Given the description of an element on the screen output the (x, y) to click on. 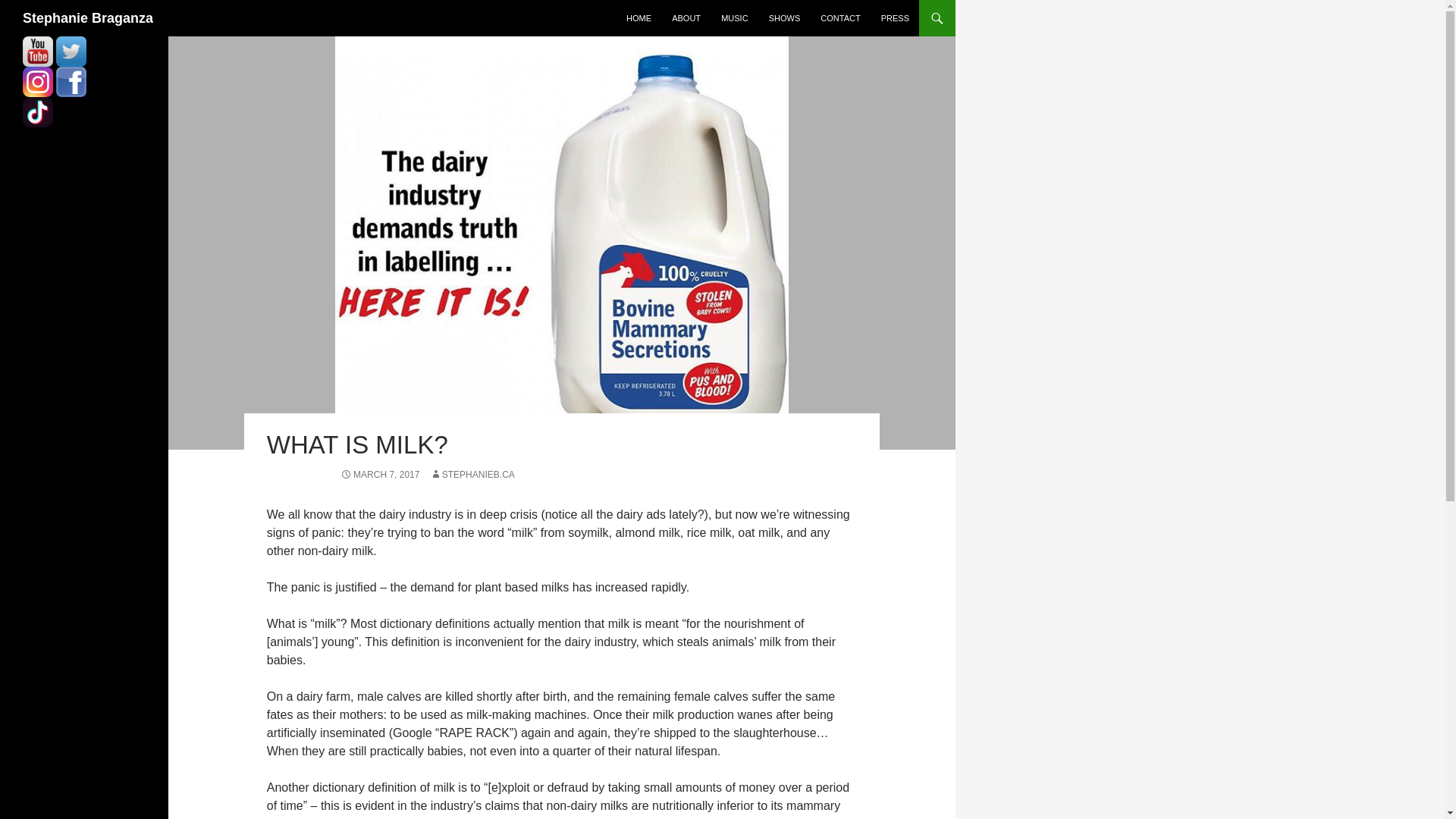
MUSIC (734, 18)
Stephanie Braganza (87, 18)
ABOUT (686, 18)
SHOWS (784, 18)
HOME (639, 18)
MARCH 7, 2017 (379, 474)
CONTACT (839, 18)
STEPHANIEB.CA (472, 474)
PRESS (895, 18)
